Given the description of an element on the screen output the (x, y) to click on. 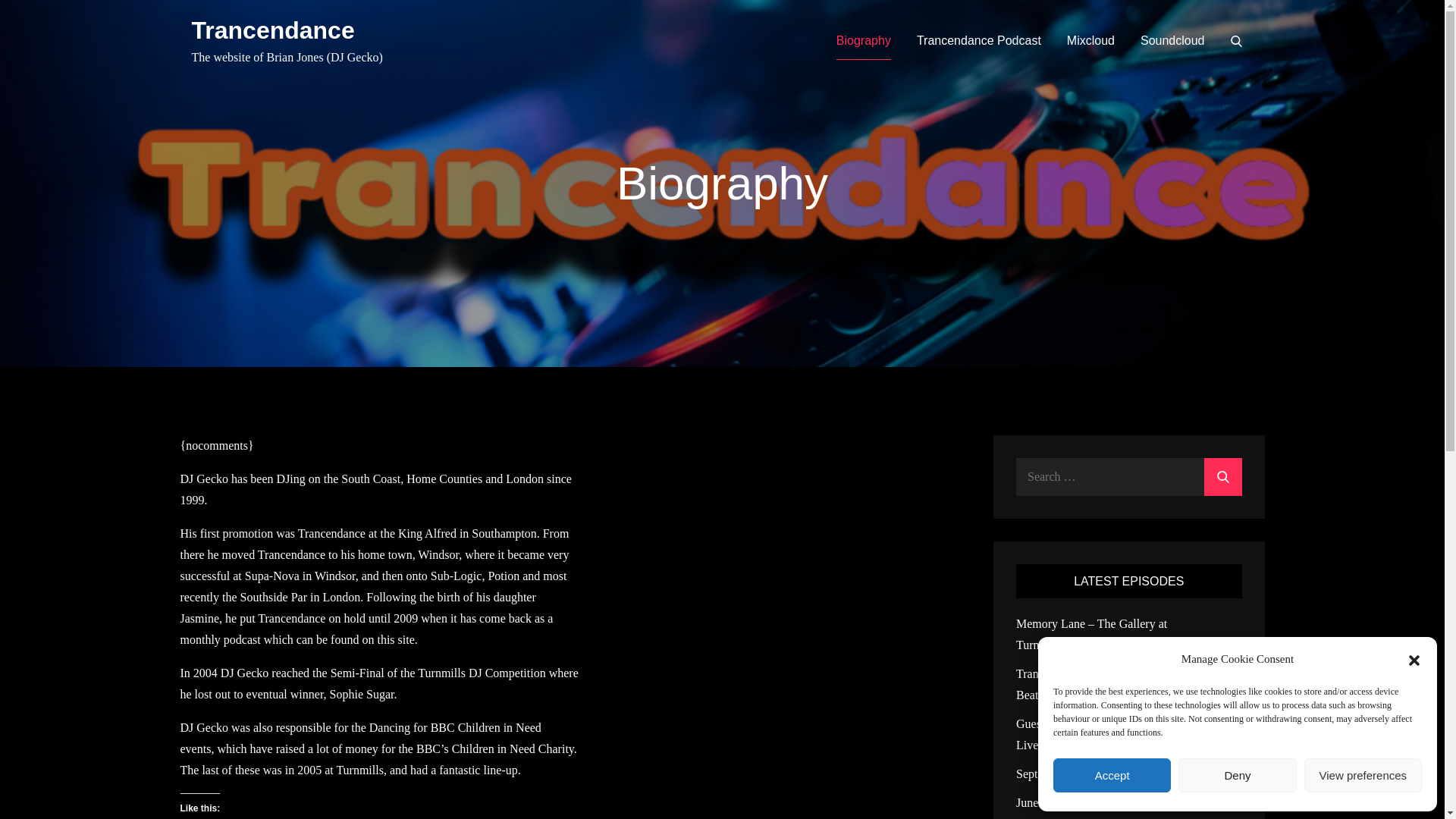
Trancendance Podcast (979, 40)
Accept (1111, 775)
Mixcloud (1091, 40)
June 2012 pt 2 (1051, 802)
Search (1235, 40)
Biography (863, 40)
Soundcloud (1172, 40)
Trancendance (271, 30)
Search (1222, 476)
Deny (1236, 775)
View preferences (1363, 775)
September 2012 (1055, 773)
Trancendance Volume One available now on BeatPort (1124, 684)
